Given the description of an element on the screen output the (x, y) to click on. 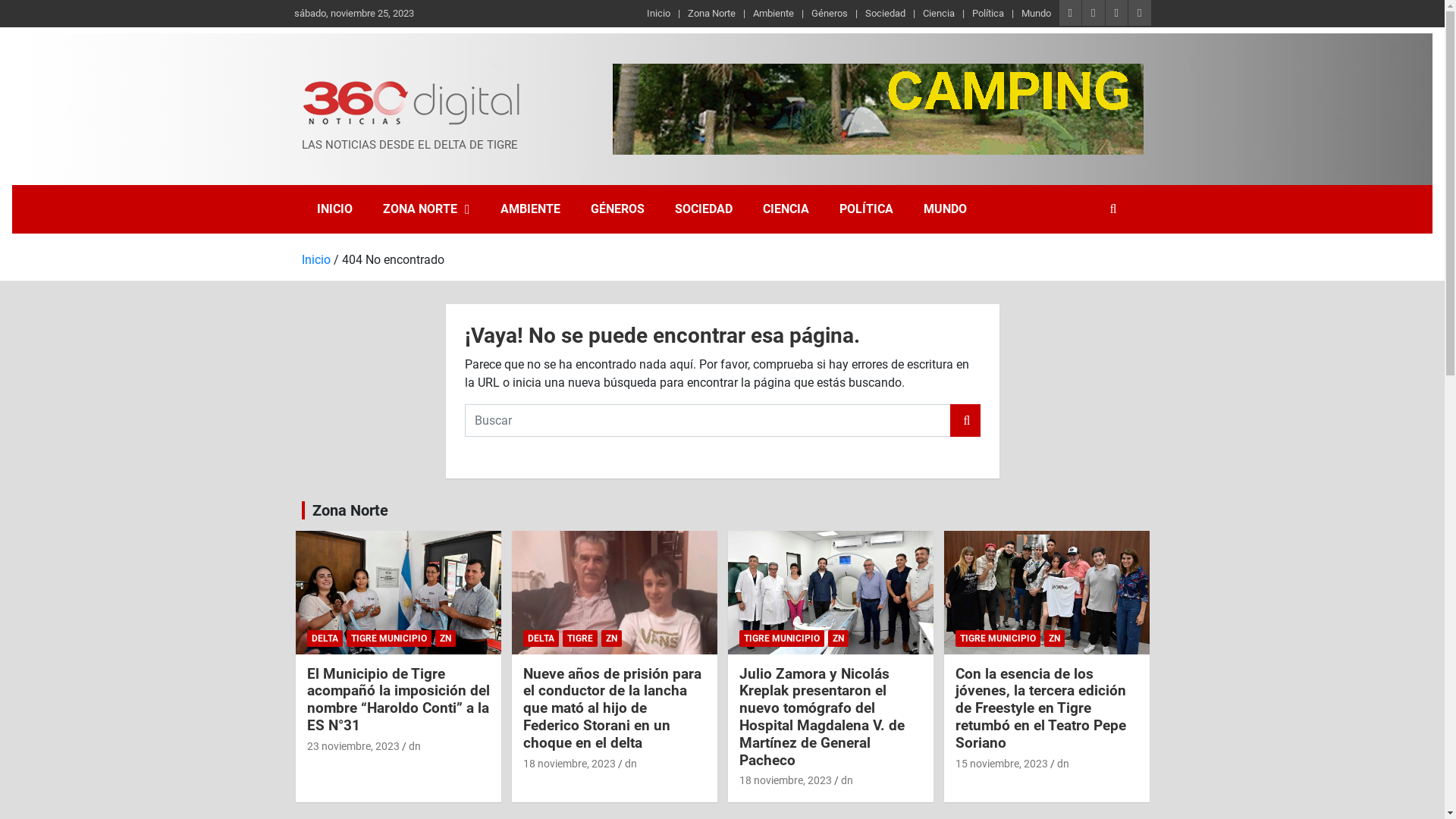
ZN Element type: text (610, 638)
Zona Norte Element type: text (711, 13)
Mundo Element type: text (1036, 13)
18 noviembre, 2023 Element type: text (569, 763)
ZN Element type: text (1053, 638)
Ambiente Element type: text (773, 13)
DELTA Element type: text (540, 638)
SOCIEDAD Element type: text (703, 209)
CIENCIA Element type: text (785, 209)
Buscar Element type: text (964, 420)
TIGRE MUNICIPIO Element type: text (387, 638)
TIGRE Element type: text (579, 638)
ZONA NORTE Element type: text (425, 209)
INICIO Element type: text (334, 209)
ZN Element type: text (838, 638)
ZN Element type: text (445, 638)
TIGRE MUNICIPIO Element type: text (997, 638)
Ciencia Element type: text (938, 13)
18 noviembre, 2023 Element type: text (784, 780)
Inicio Element type: text (658, 13)
AMBIENTE Element type: text (530, 209)
dn Element type: text (846, 780)
15 noviembre, 2023 Element type: text (1001, 763)
Inicio Element type: text (315, 258)
23 noviembre, 2023 Element type: text (352, 746)
Sociedad Element type: text (885, 13)
DELTA Element type: text (324, 638)
TIGRE MUNICIPIO Element type: text (780, 638)
dn Element type: text (413, 746)
dn Element type: text (1063, 763)
Zona Norte Element type: text (350, 510)
dn Element type: text (630, 763)
MUNDO Element type: text (945, 209)
